Given the description of an element on the screen output the (x, y) to click on. 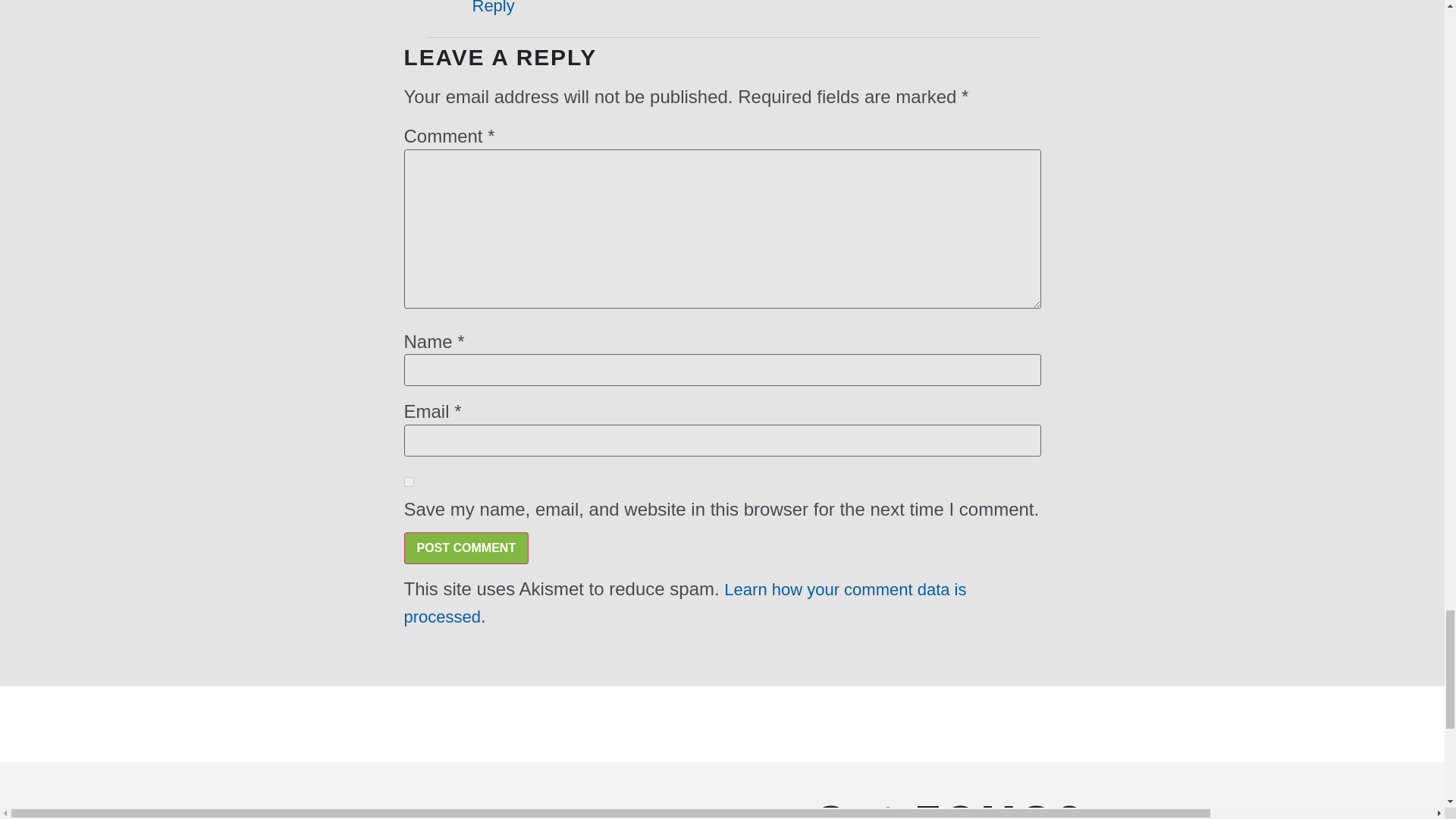
Post Comment (465, 548)
yes (408, 481)
